Given the description of an element on the screen output the (x, y) to click on. 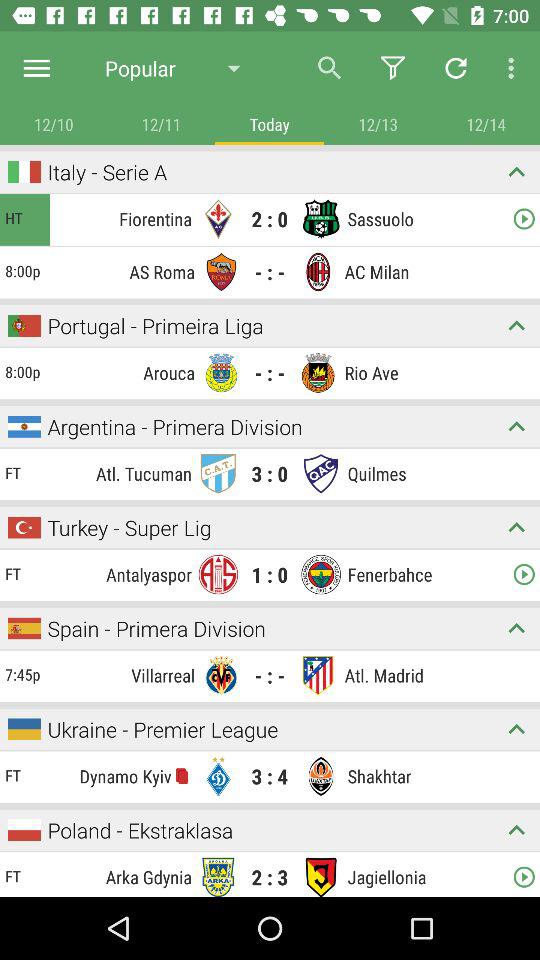
hide team (516, 325)
